Given the description of an element on the screen output the (x, y) to click on. 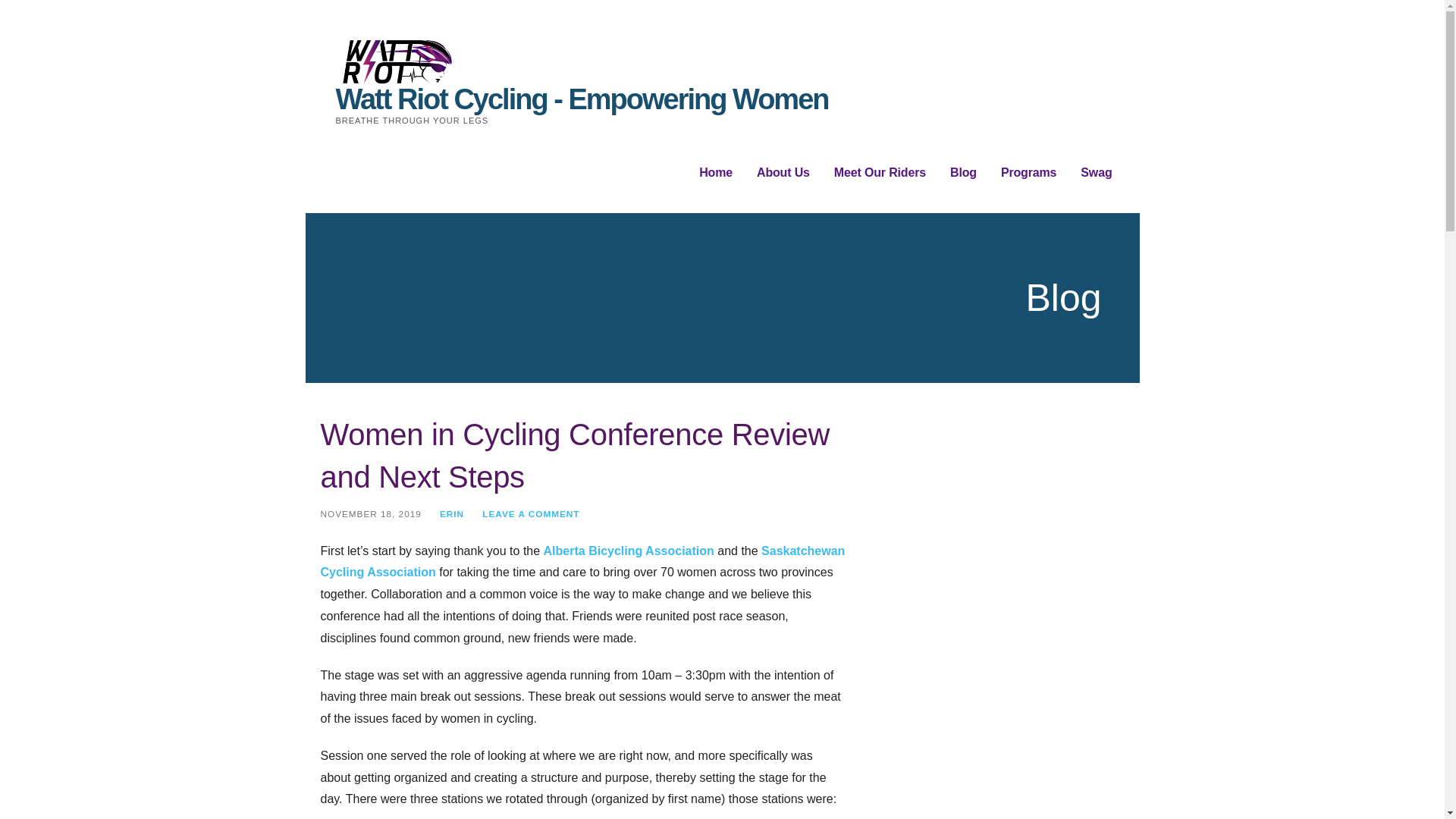
Programs (1029, 173)
Home (715, 173)
ERIN (451, 513)
Posts by Erin (451, 513)
Meet Our Riders (880, 173)
Alberta Bicycling Association (628, 550)
Watt Riot Cycling - Empowering Women (581, 99)
Saskatchewan Cycling Association (582, 561)
About Us (783, 173)
Swag (1096, 173)
LEAVE A COMMENT (530, 513)
